Given the description of an element on the screen output the (x, y) to click on. 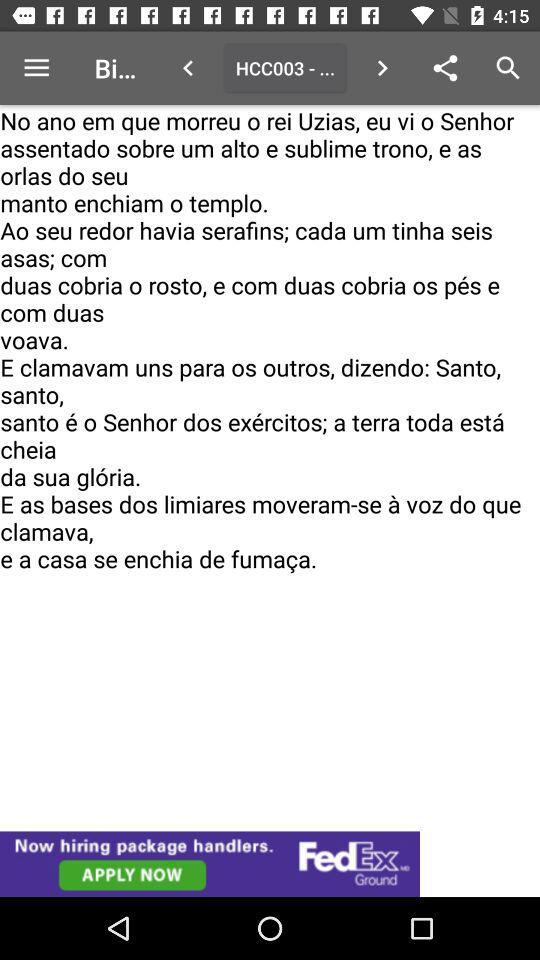
open advertisement (270, 864)
